Given the description of an element on the screen output the (x, y) to click on. 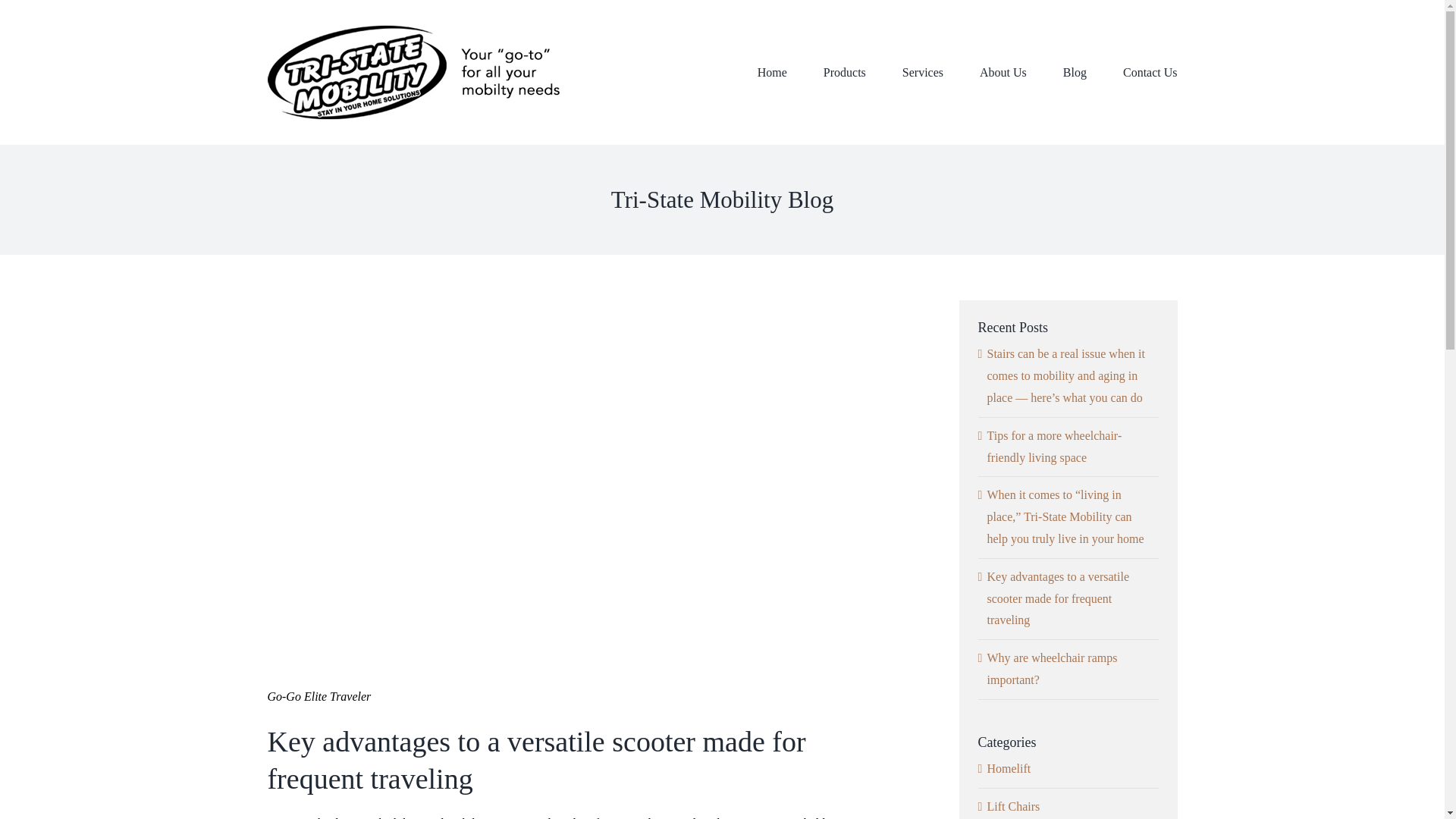
Lift Chairs (1069, 807)
Homelift (1069, 769)
Tips for a more wheelchair-friendly living space (1054, 446)
Why are wheelchair ramps important? (1052, 668)
